Given the description of an element on the screen output the (x, y) to click on. 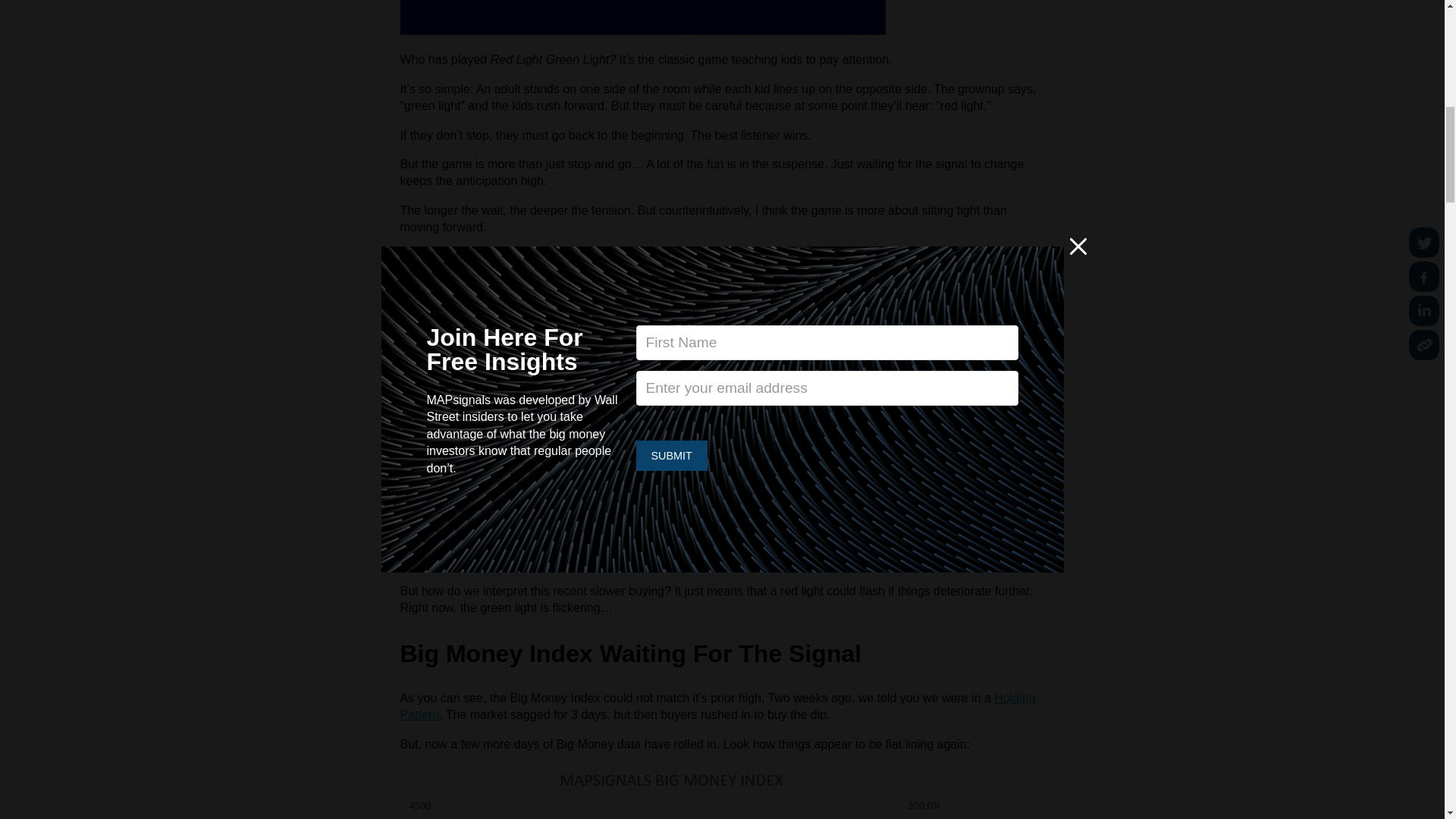
Holding Pattern (717, 706)
